Given the description of an element on the screen output the (x, y) to click on. 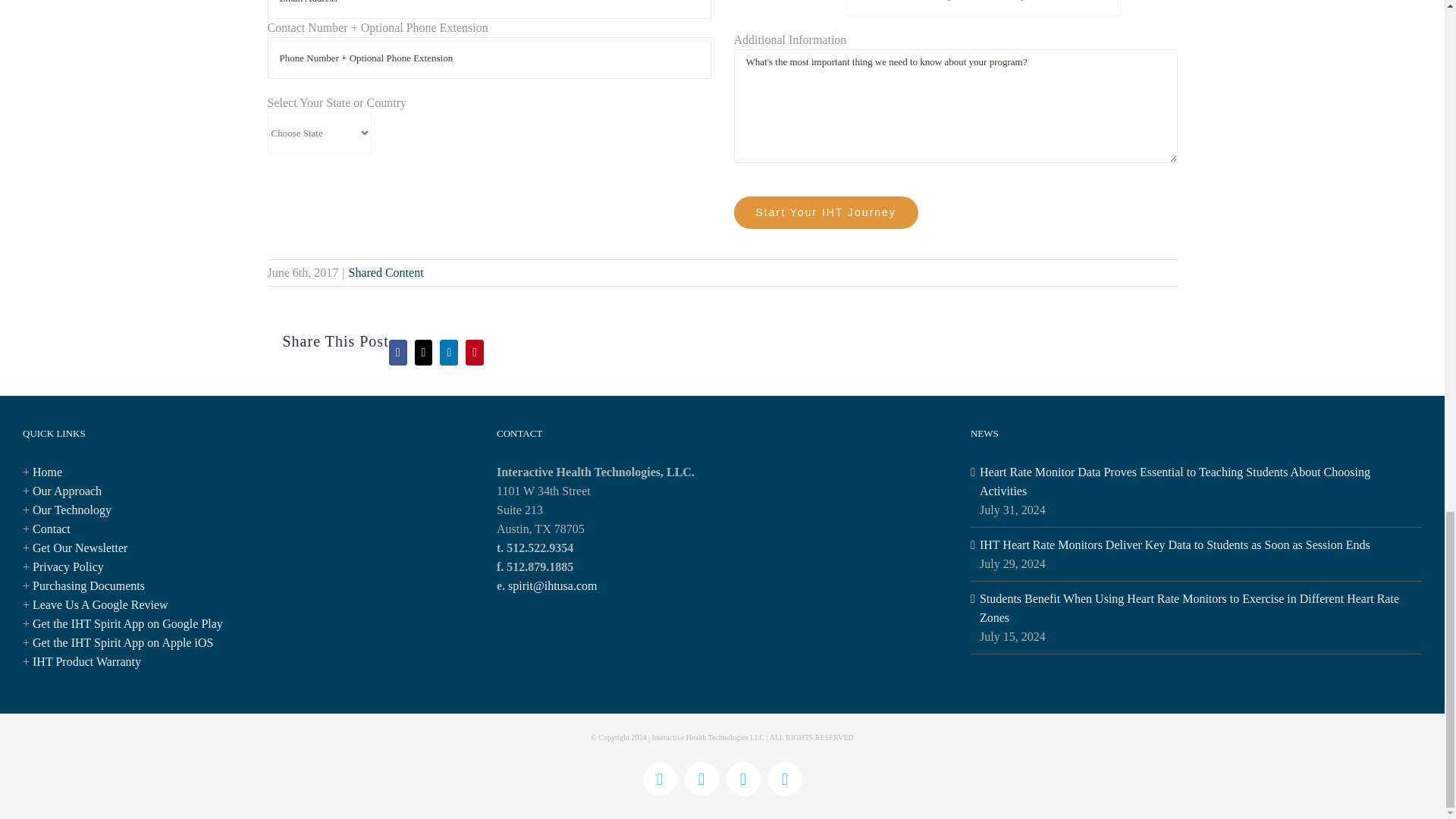
LinkedIn (784, 779)
Instagram (743, 779)
Facebook (660, 779)
Start Your IHT Journey (825, 212)
X (700, 779)
